Given the description of an element on the screen output the (x, y) to click on. 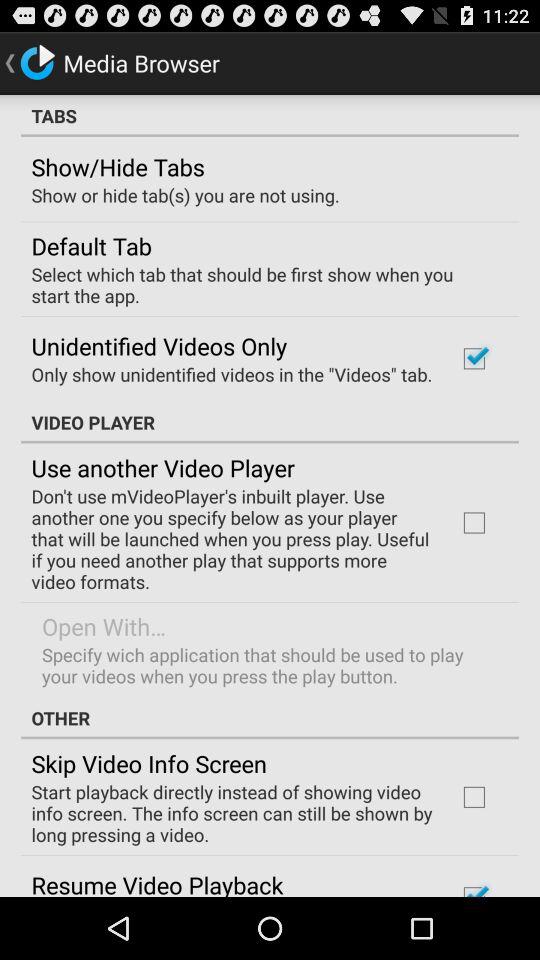
flip to other icon (270, 718)
